Given the description of an element on the screen output the (x, y) to click on. 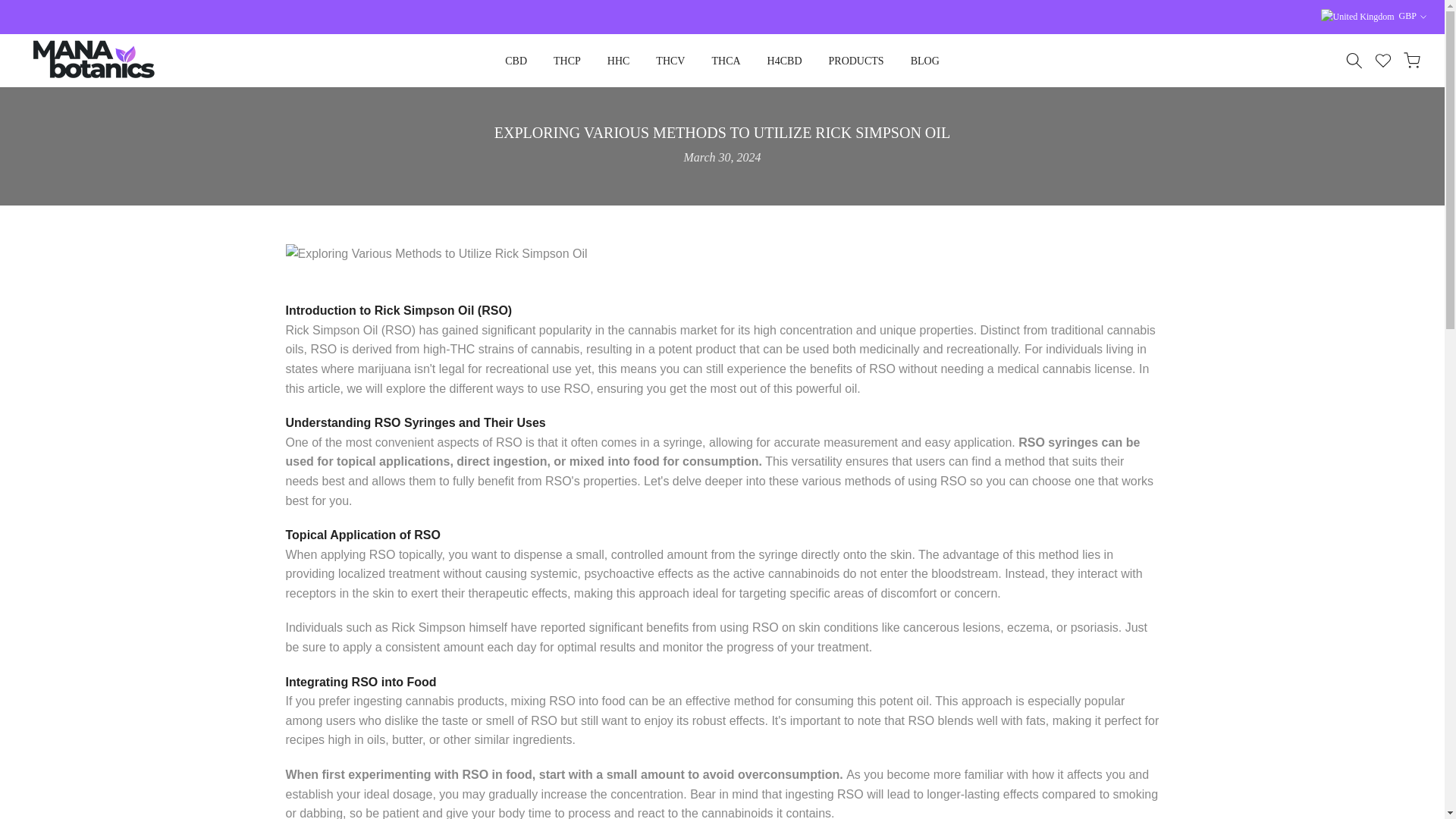
THCP (567, 61)
CBD (516, 61)
Skip to content (10, 7)
GBP (1373, 16)
HHC (618, 61)
THCA (726, 61)
THCV (670, 61)
BLOG (924, 61)
PRODUCTS (855, 61)
H4CBD (784, 61)
